Given the description of an element on the screen output the (x, y) to click on. 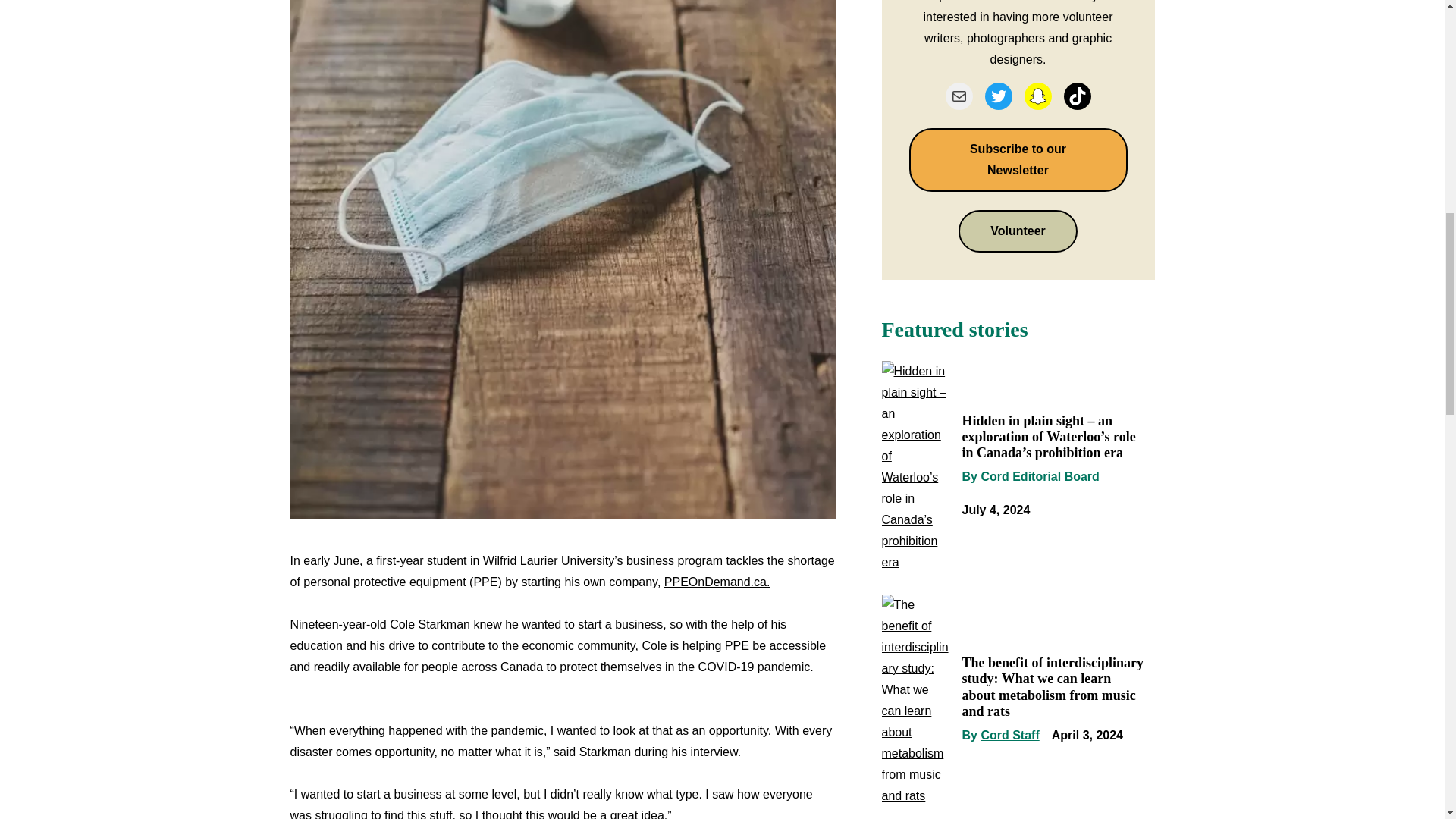
Posts by Cord Staff (1009, 735)
Posts by Cord Editorial Board (1039, 476)
PPEOnDemand.ca. (716, 581)
